Given the description of an element on the screen output the (x, y) to click on. 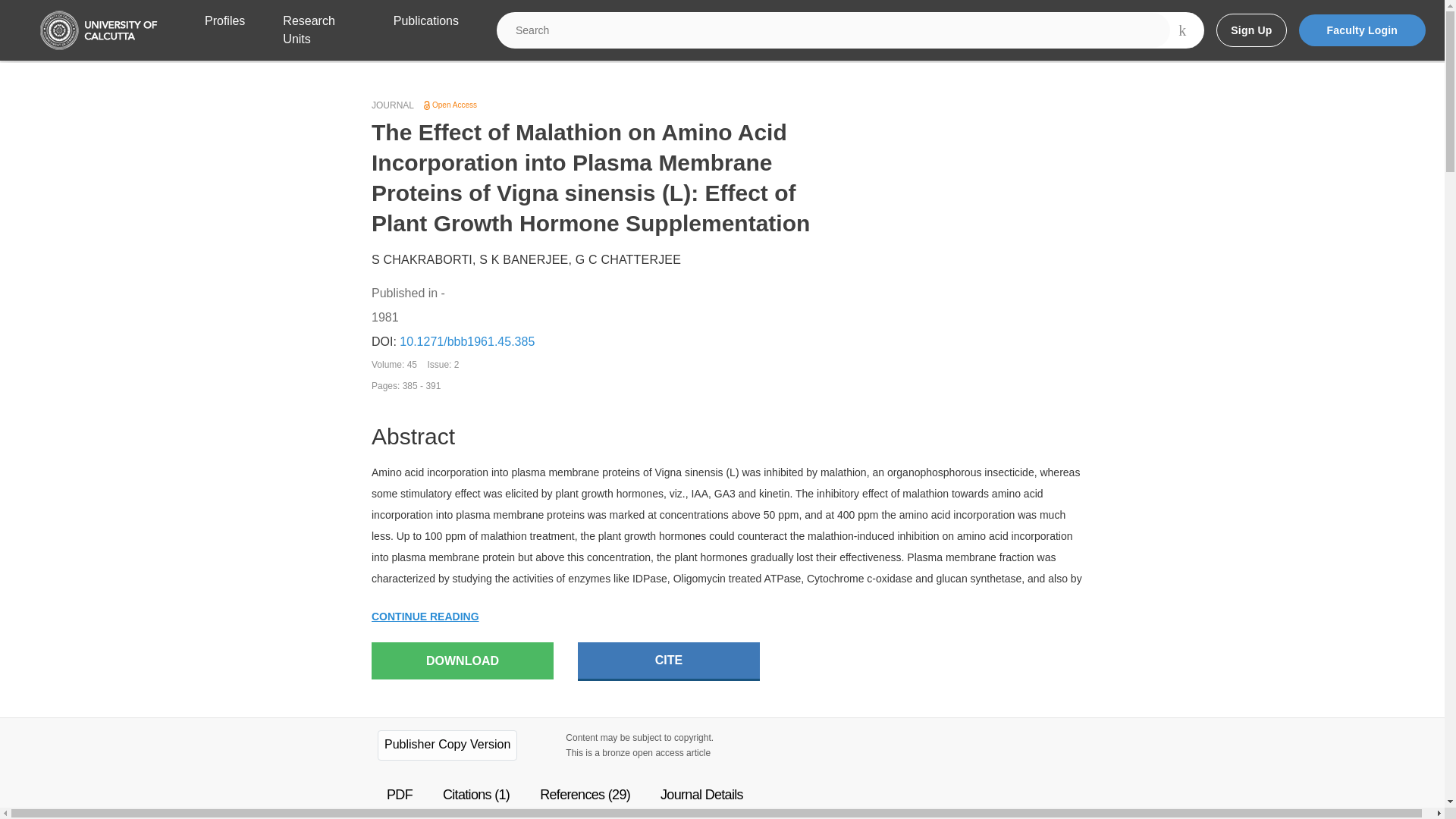
Profiles (224, 30)
Faculty Login (1361, 29)
DOWNLOAD (462, 660)
Institution logo (98, 30)
PDF (399, 794)
Research Units (318, 30)
CITE (669, 661)
Sign Up (1250, 29)
Journal Details (701, 794)
Publications (425, 30)
